Given the description of an element on the screen output the (x, y) to click on. 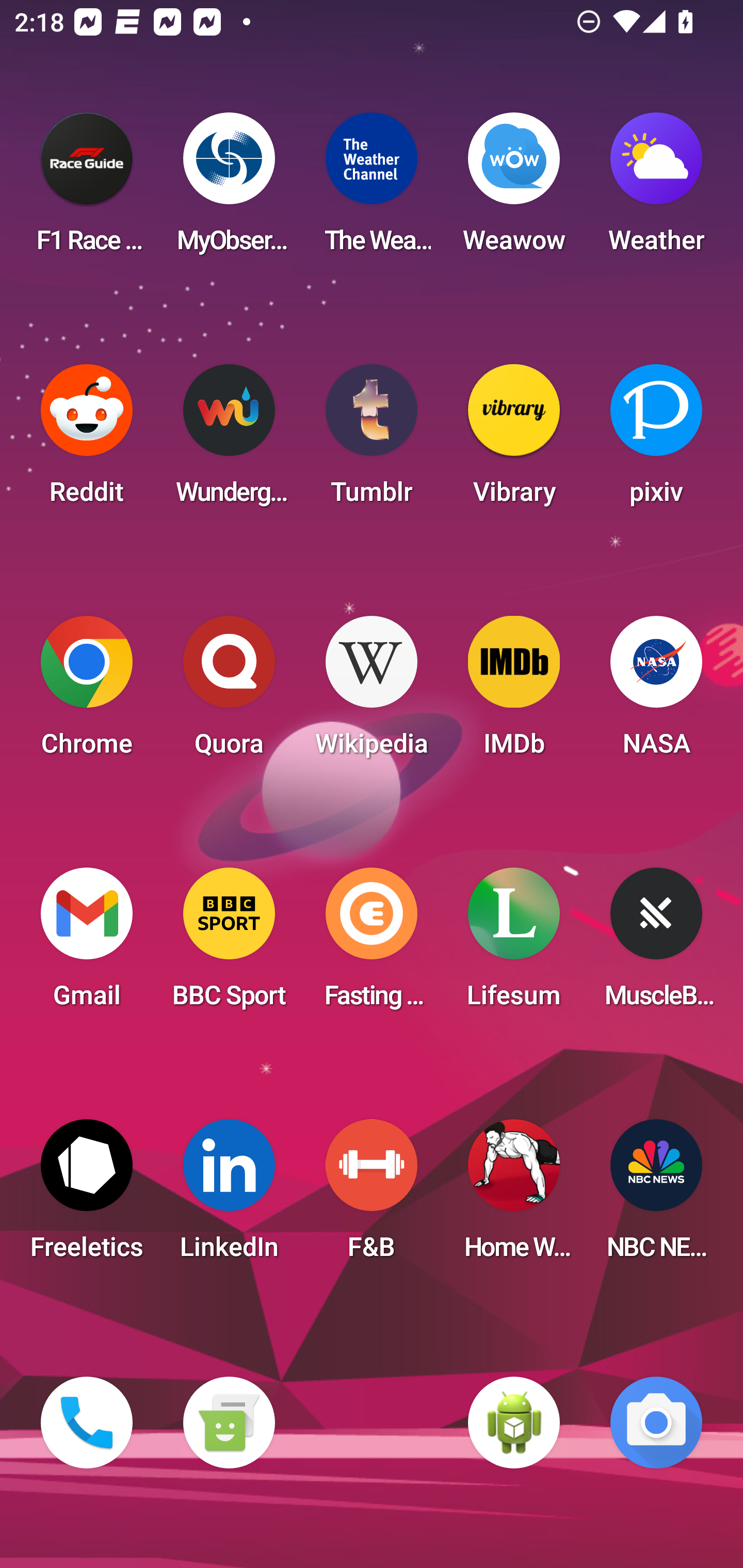
F1 Race Guide (86, 188)
MyObservatory (228, 188)
The Weather Channel (371, 188)
Weawow (513, 188)
Weather (656, 188)
Reddit (86, 440)
Wunderground (228, 440)
Tumblr (371, 440)
Vibrary (513, 440)
pixiv (656, 440)
Chrome (86, 692)
Quora (228, 692)
Wikipedia (371, 692)
IMDb (513, 692)
NASA (656, 692)
Gmail (86, 943)
BBC Sport (228, 943)
Fasting Coach (371, 943)
Lifesum (513, 943)
MuscleBooster (656, 943)
Freeletics (86, 1195)
LinkedIn (228, 1195)
F&B (371, 1195)
Home Workout (513, 1195)
NBC NEWS (656, 1195)
Phone (86, 1422)
Messaging (228, 1422)
WebView Browser Tester (513, 1422)
Camera (656, 1422)
